Given the description of an element on the screen output the (x, y) to click on. 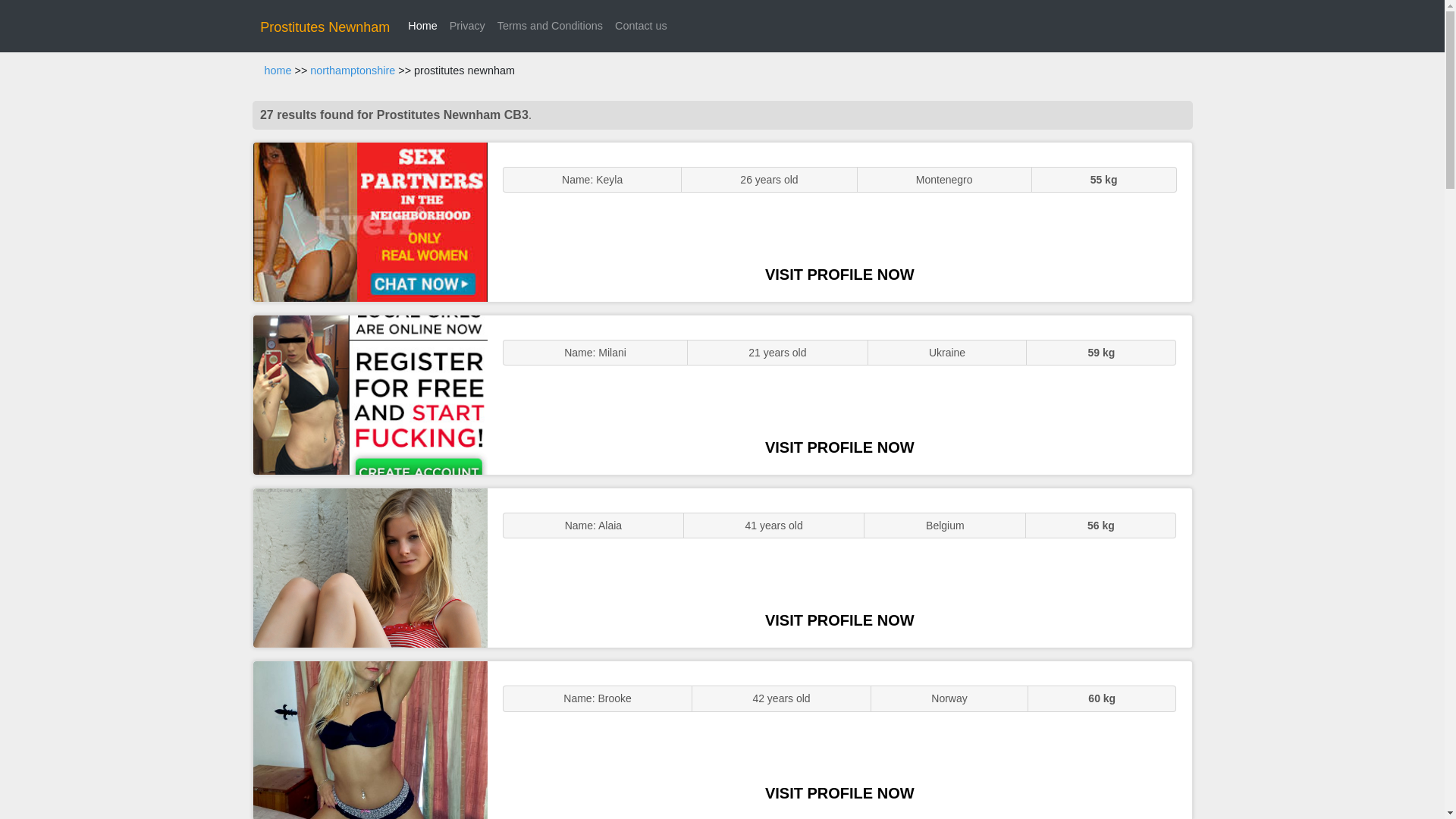
VISIT PROFILE NOW (839, 274)
 ENGLISH STUNNER (370, 222)
VISIT PROFILE NOW (839, 446)
Prostitutes Newnham (325, 27)
VISIT PROFILE NOW (839, 619)
Sexy (370, 567)
Sluts (370, 739)
VISIT PROFILE NOW (839, 792)
GFE (370, 395)
Terms and Conditions (550, 25)
Contact us (640, 25)
home (277, 70)
Privacy (468, 25)
northamptonshire (352, 70)
